Given the description of an element on the screen output the (x, y) to click on. 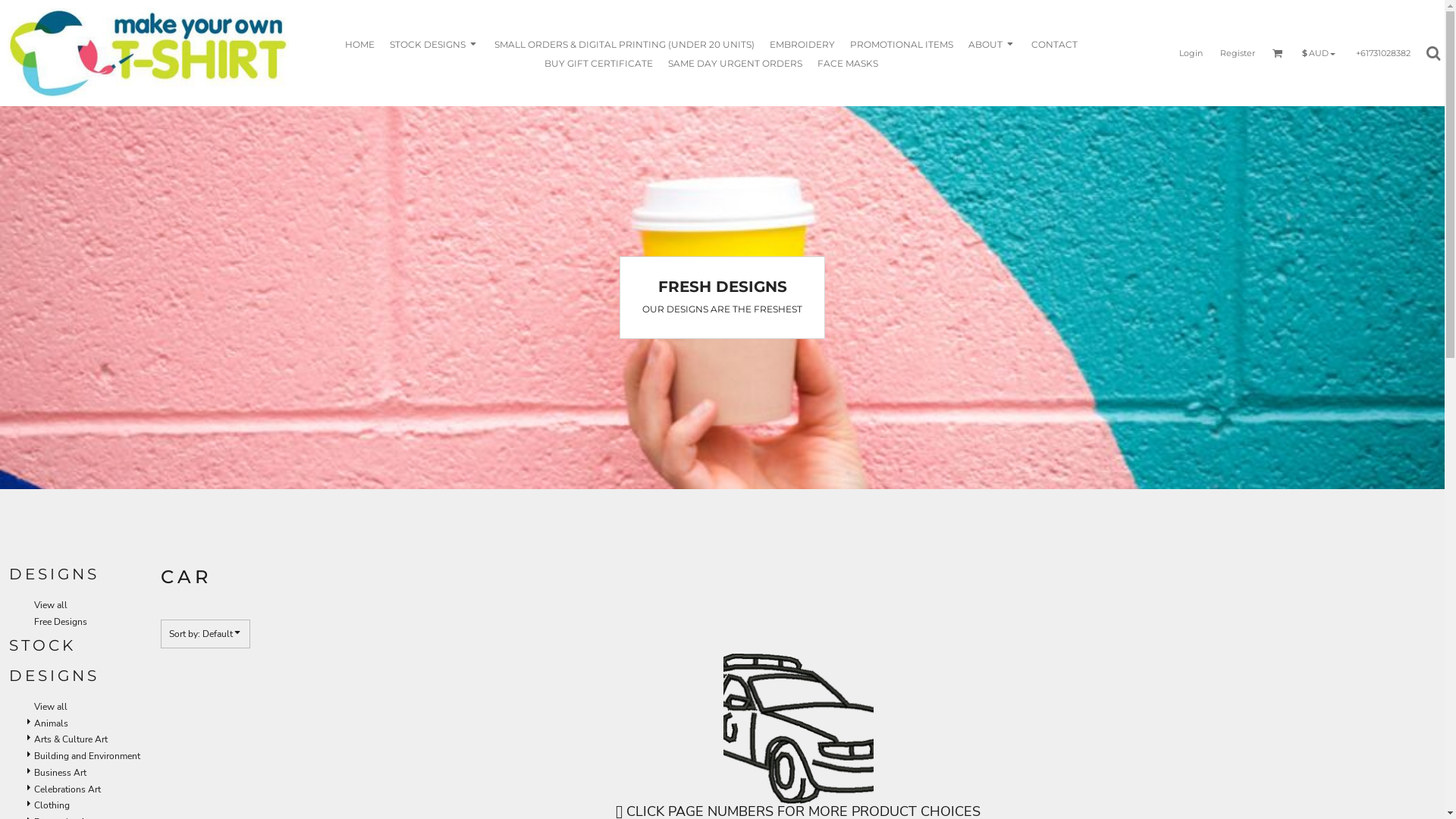
Business Art Element type: text (60, 772)
Clothing Element type: text (51, 805)
ABOUT Element type: text (992, 43)
CONTACT Element type: text (1054, 43)
Animals Element type: text (51, 723)
SAME DAY URGENT ORDERS Element type: text (735, 62)
Building and Environment Element type: text (87, 755)
BUY GIFT CERTIFICATE Element type: text (598, 62)
Register Element type: text (1236, 52)
View all Element type: text (50, 605)
Free Designs Element type: text (60, 621)
SMALL ORDERS & DIGITAL PRINTING (UNDER 20 UNITS) Element type: text (624, 43)
Arts & Culture Art Element type: text (70, 739)
HOME Element type: text (359, 43)
as Element type: text (11, 7)
STOCK DESIGNS Element type: text (434, 43)
352910 Element type: hover (797, 728)
EMBROIDERY Element type: text (801, 43)
FACE MASKS Element type: text (847, 62)
View all Element type: text (50, 706)
Celebrations Art Element type: text (67, 789)
PROMOTIONAL ITEMS Element type: text (901, 43)
Login Element type: text (1189, 52)
